Given the description of an element on the screen output the (x, y) to click on. 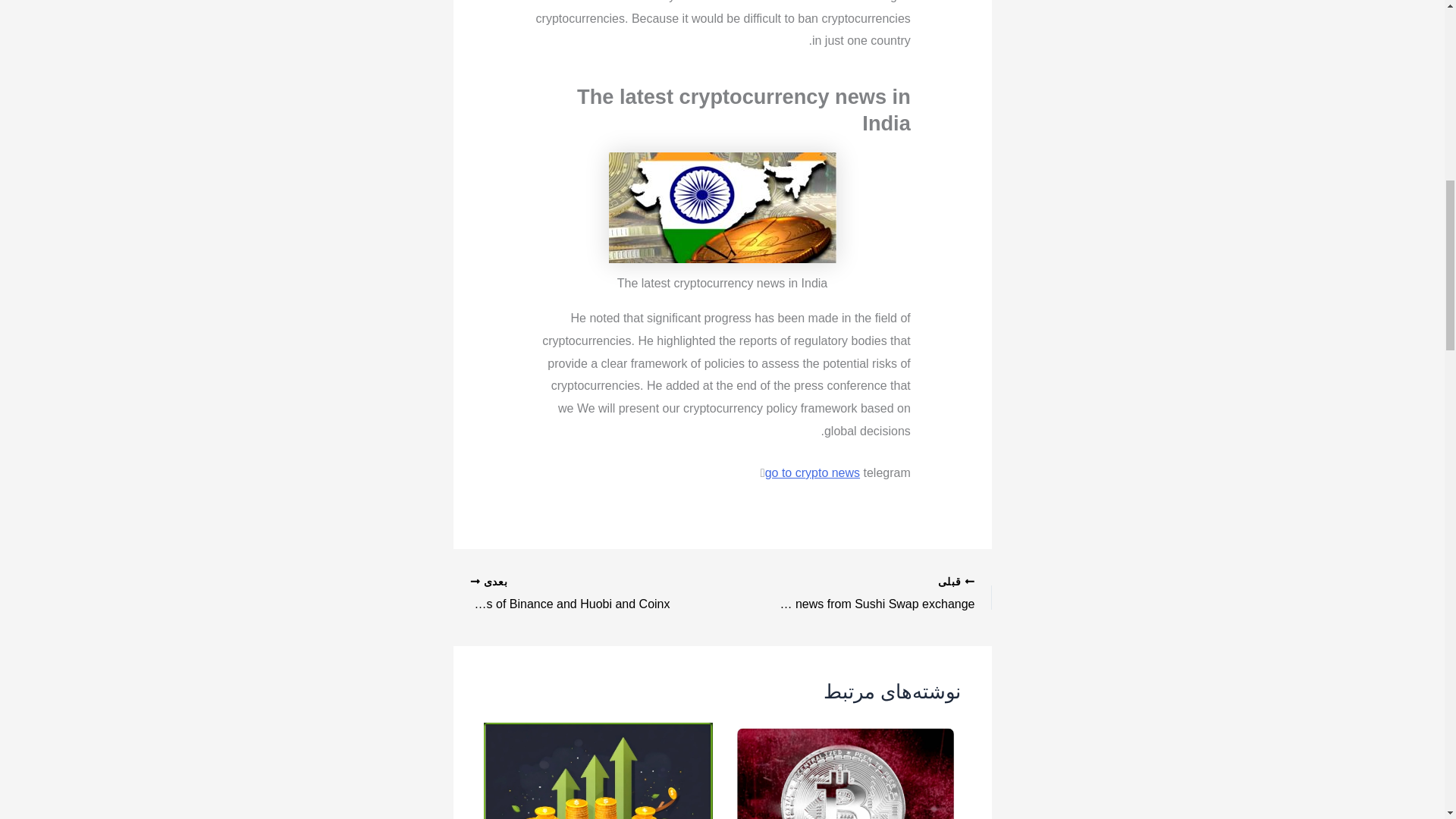
Today's news of Binance and Huobi and Coinx (561, 594)
go to crypto news (812, 472)
New news from Sushi Swap exchange (882, 594)
